Given the description of an element on the screen output the (x, y) to click on. 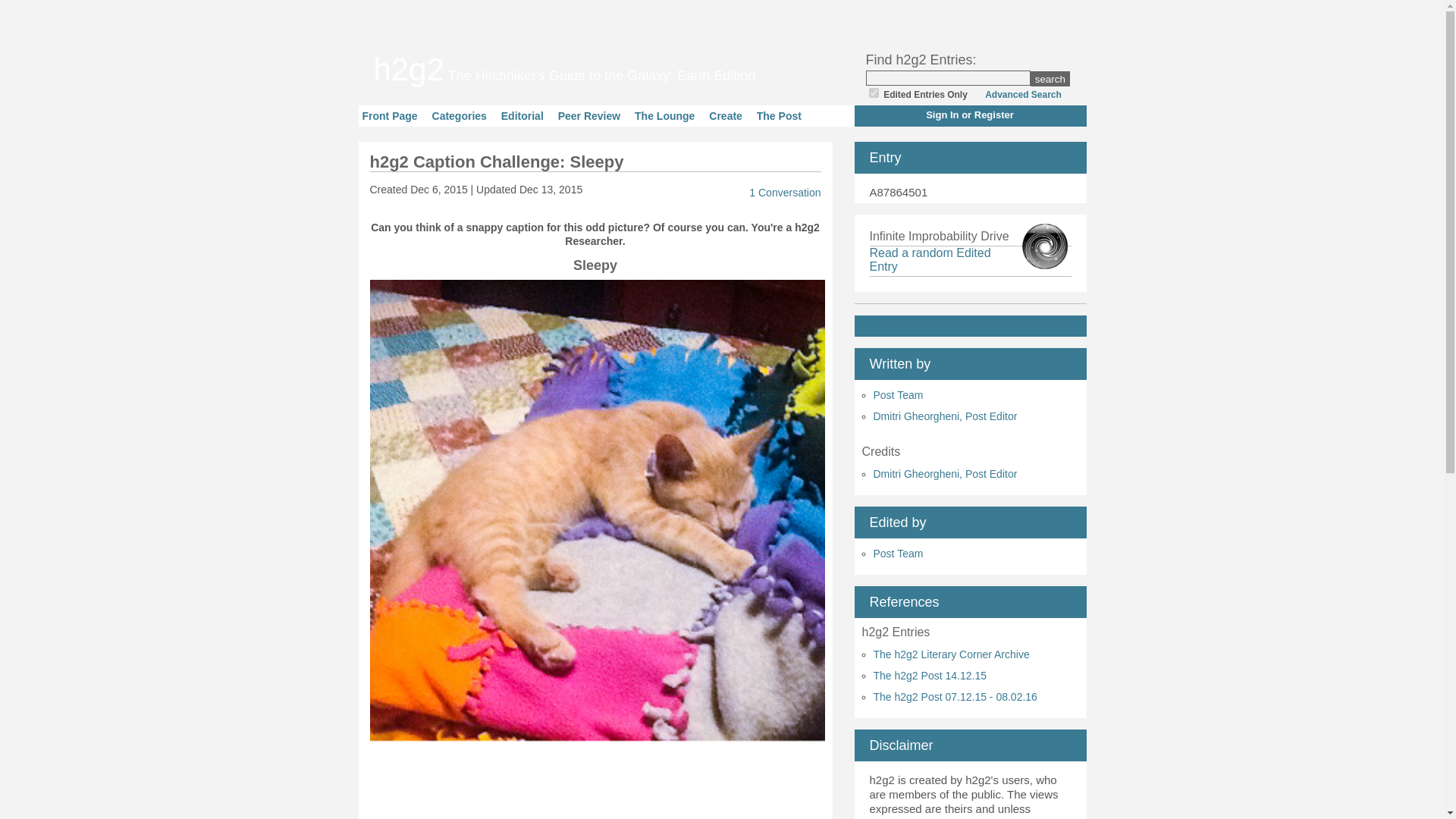
The Post (779, 115)
Post Team (898, 553)
search (1050, 78)
Dmitri Gheorgheni, Post Editor (945, 473)
Tweet (872, 326)
The h2g2 Literary Corner Archive (951, 654)
The h2g2 Post 14.12.15 (930, 675)
The h2g2 Post 14.12.15 (930, 675)
search (1050, 78)
Advanced Search (1018, 94)
